Given the description of an element on the screen output the (x, y) to click on. 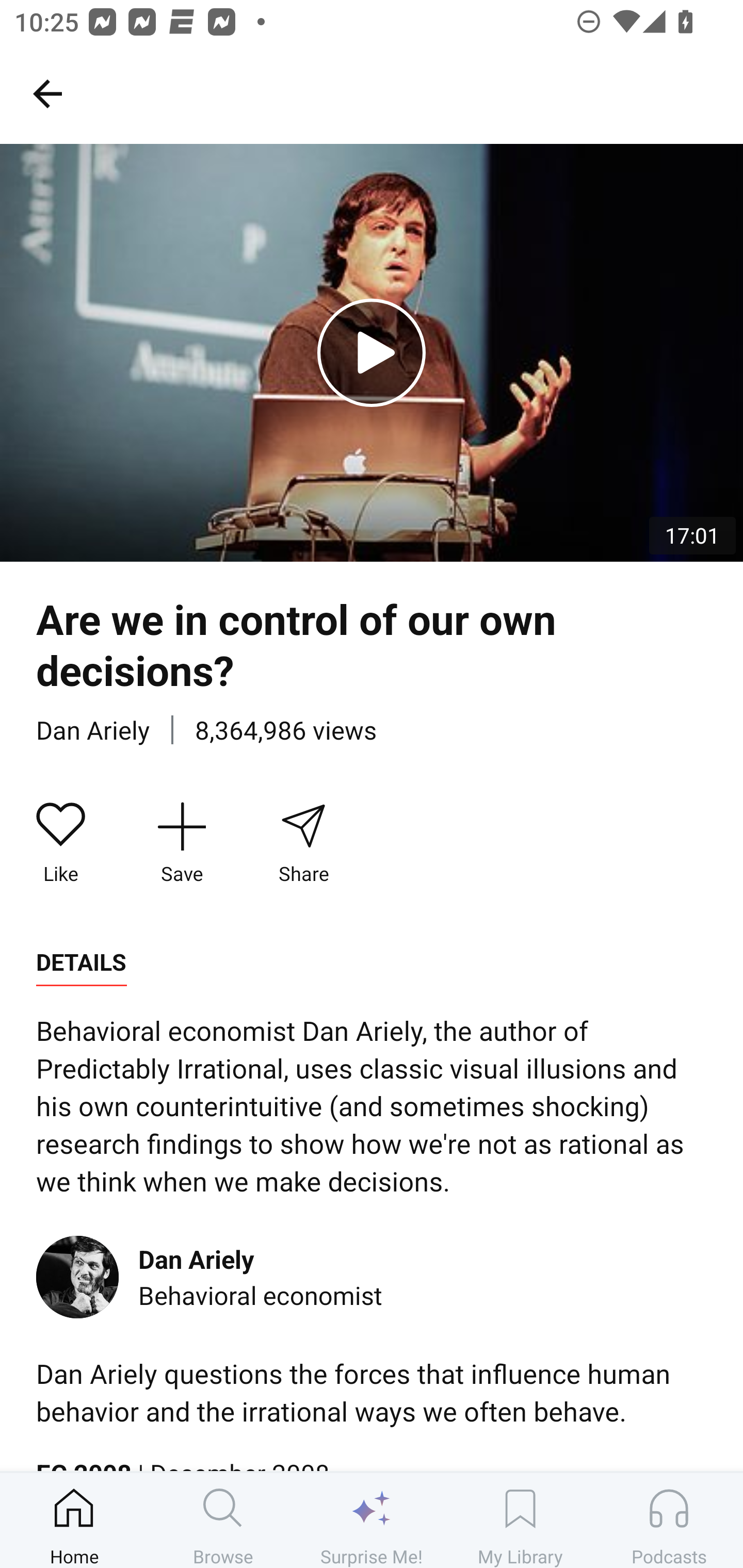
Home, back (47, 92)
Like (60, 843)
Save (181, 843)
Share (302, 843)
DETAILS (80, 962)
Home (74, 1520)
Browse (222, 1520)
Surprise Me! (371, 1520)
My Library (519, 1520)
Podcasts (668, 1520)
